Given the description of an element on the screen output the (x, y) to click on. 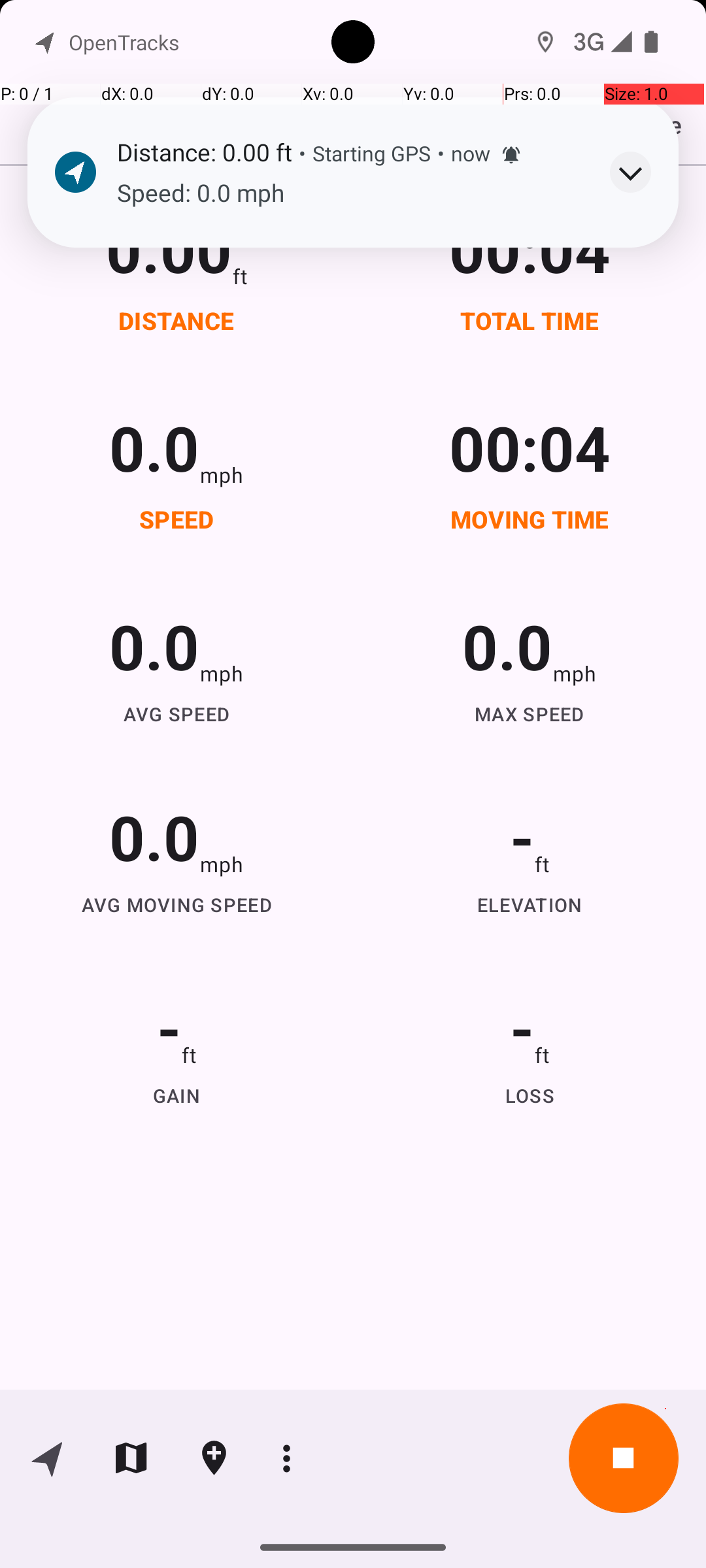
0.00 Element type: android.widget.TextView (168, 248)
00:04 Element type: android.widget.TextView (529, 248)
Speed: 0.0 mph Element type: android.widget.TextView (349, 192)
Distance: 0.00 ft Element type: android.widget.TextView (204, 151)
Starting GPS Element type: android.widget.TextView (371, 153)
